Given the description of an element on the screen output the (x, y) to click on. 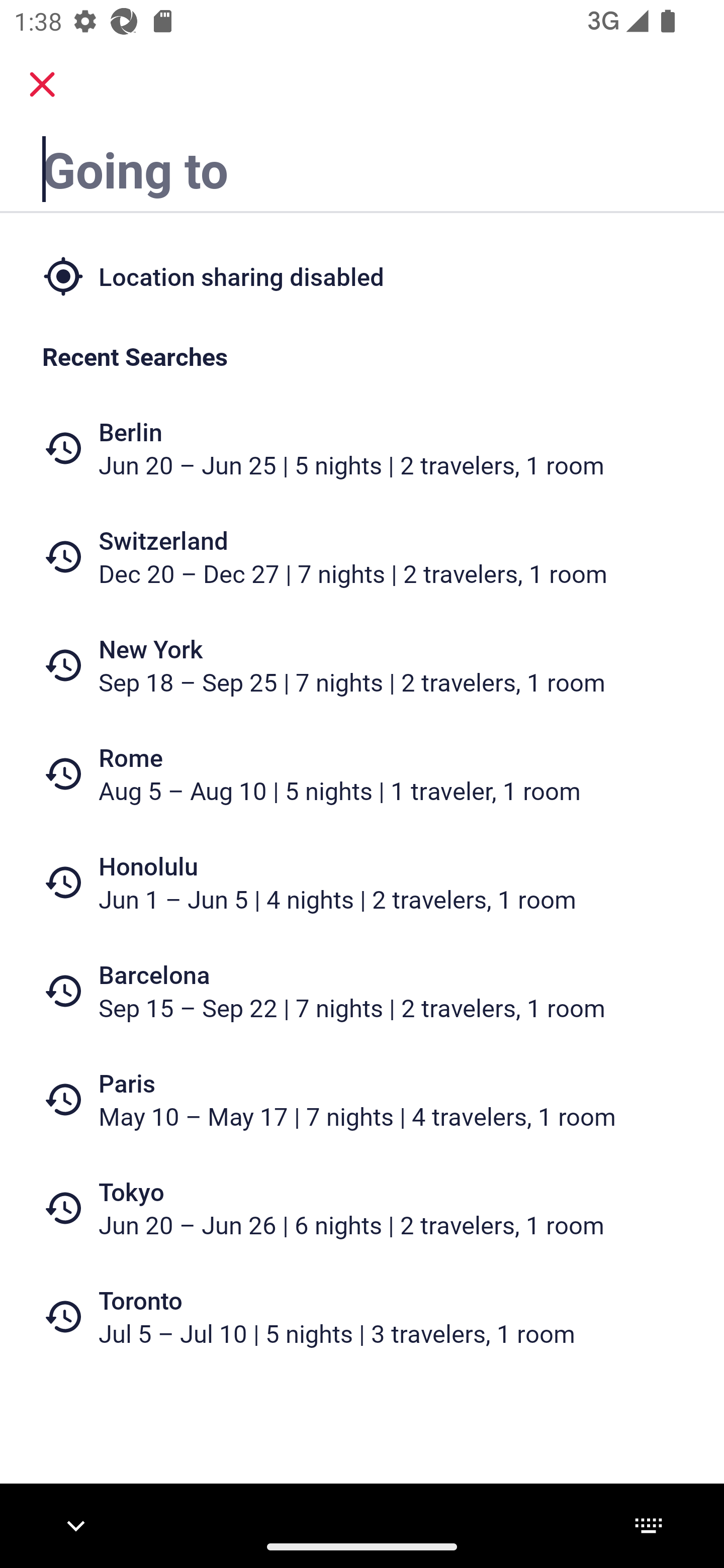
close. (42, 84)
Location sharing disabled (362, 275)
